Given the description of an element on the screen output the (x, y) to click on. 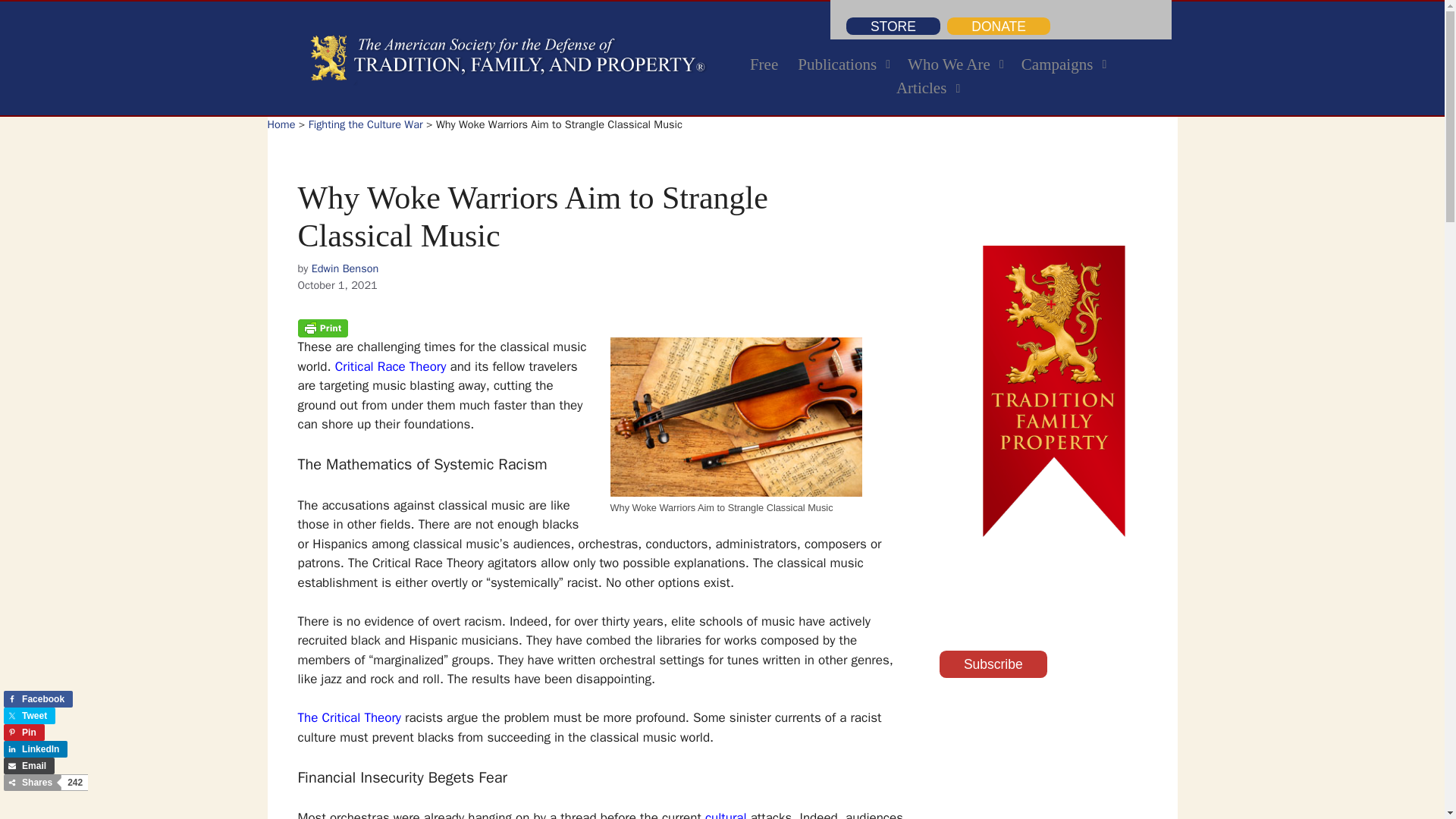
Who We Are (954, 64)
Share on Twitter (29, 715)
Share on Pinterest (927, 76)
View all posts by Edwin Benson (24, 732)
Free (344, 268)
Share via Email (763, 64)
Share on Facebook (29, 765)
Share on LinkedIn (38, 699)
Email (35, 749)
